Given the description of an element on the screen output the (x, y) to click on. 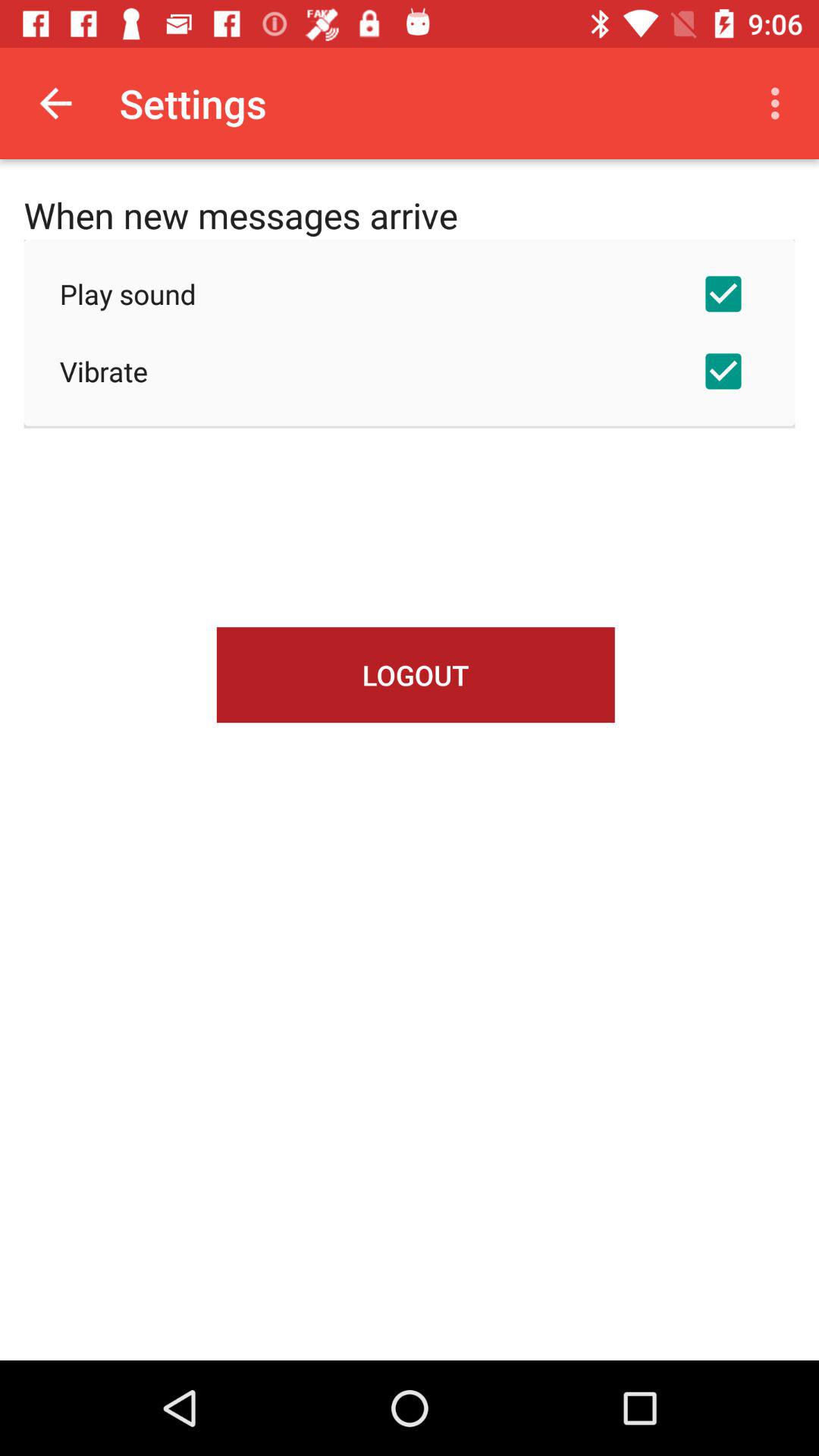
click the app next to the settings (55, 103)
